Given the description of an element on the screen output the (x, y) to click on. 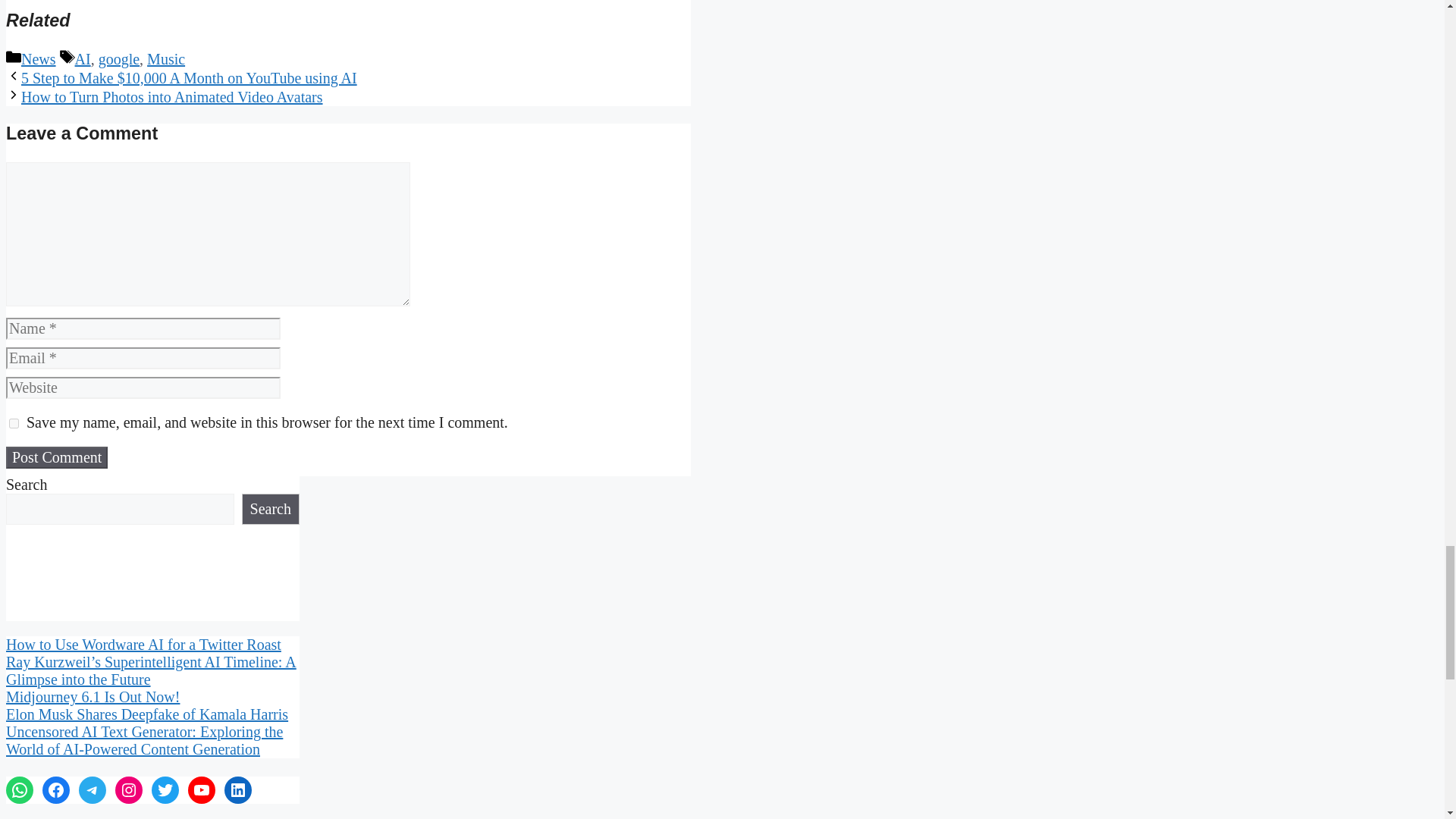
Elon Musk Shares Deepfake of Kamala Harris (146, 713)
Post Comment (56, 456)
google (119, 58)
Telegram (92, 789)
Post Comment (56, 456)
WhatsApp (19, 789)
AI (82, 58)
How to Use Wordware AI for a Twitter Roast (143, 644)
Music (165, 58)
News (38, 58)
Midjourney 6.1 Is Out Now! (92, 696)
Facebook (55, 789)
yes (13, 423)
Search (270, 508)
